Given the description of an element on the screen output the (x, y) to click on. 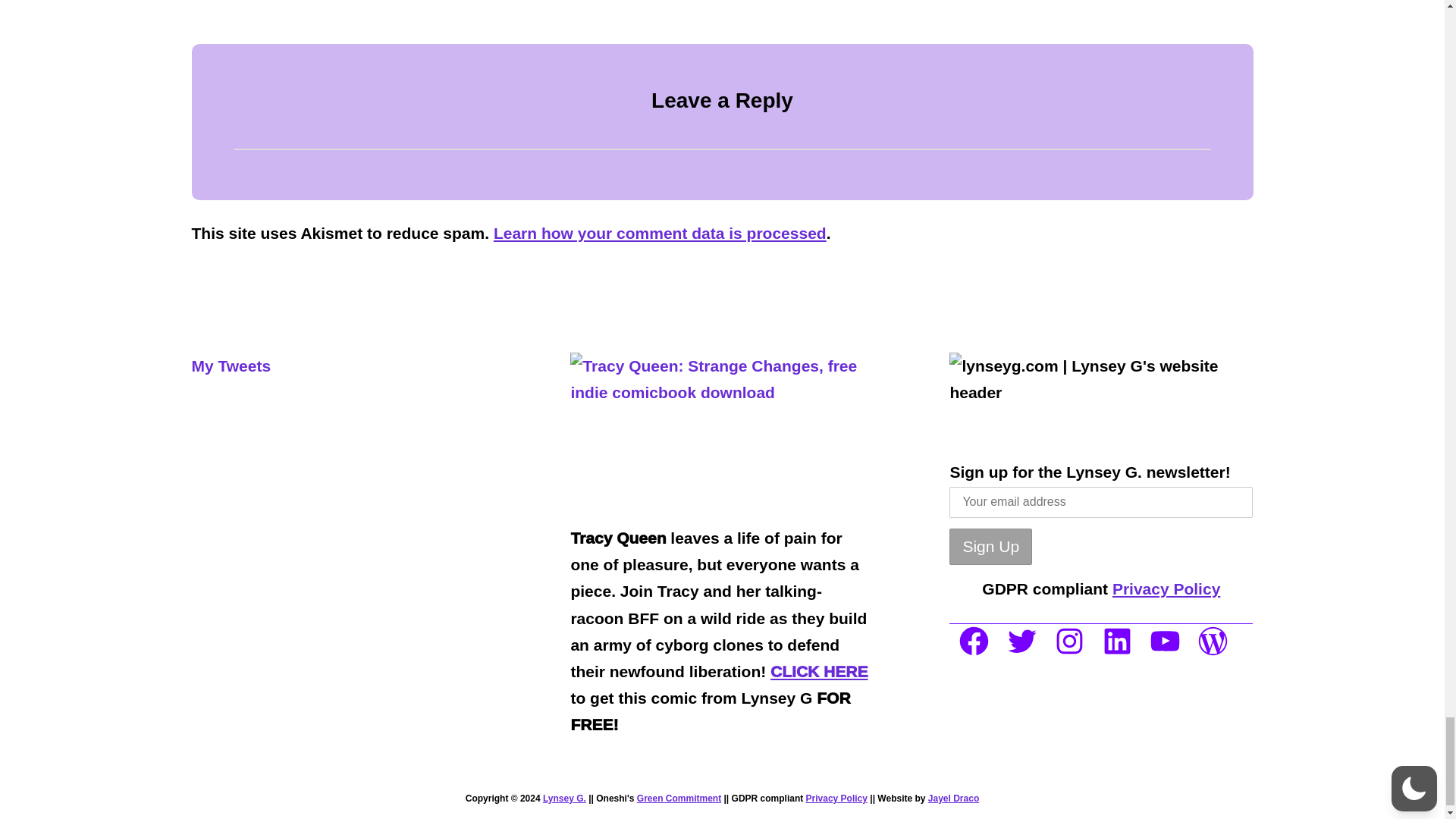
Sign up (990, 546)
